Given the description of an element on the screen output the (x, y) to click on. 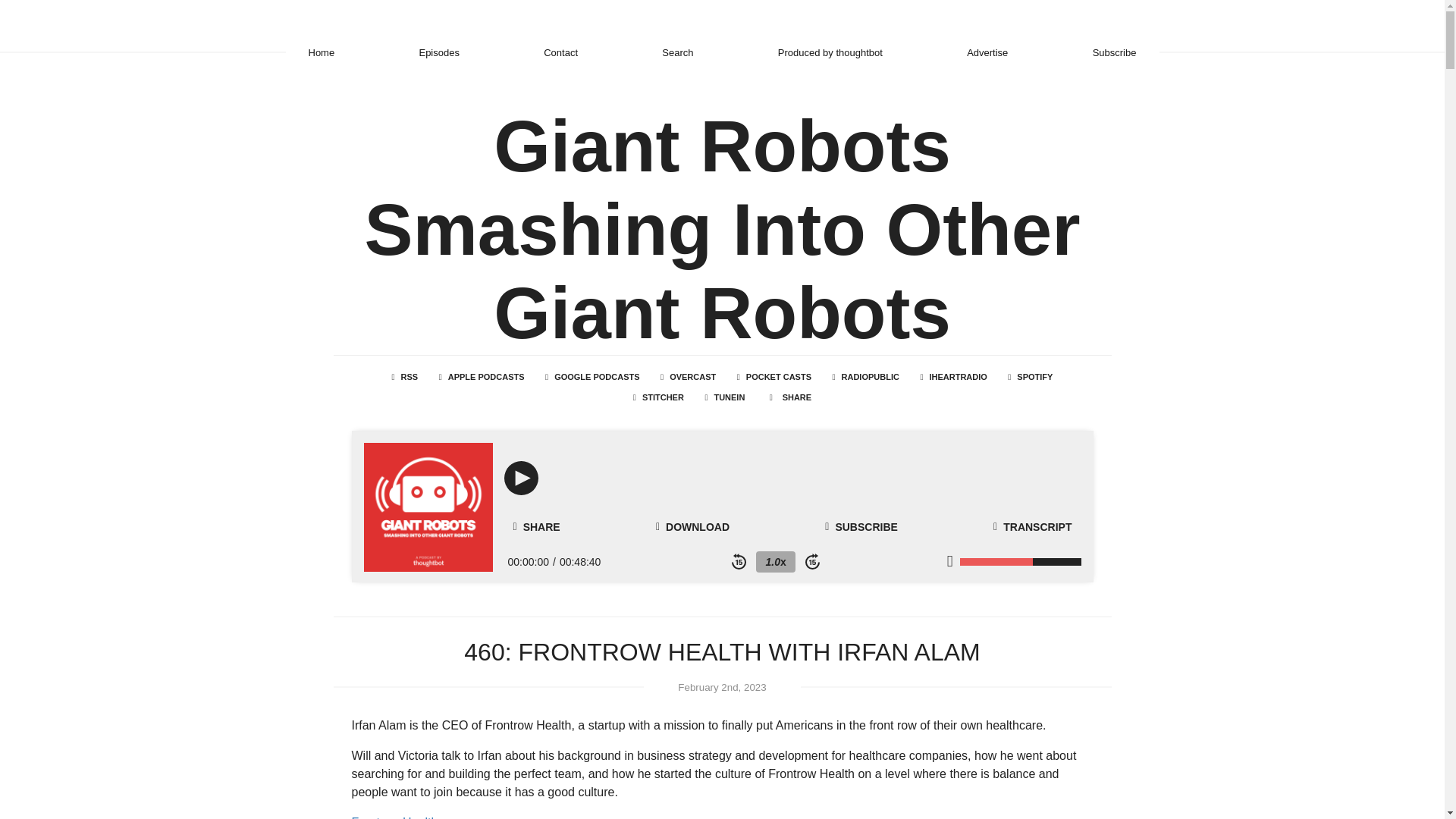
IHEARTRADIO (953, 376)
SHARE (788, 397)
TUNEIN (724, 397)
SUBSCRIBE (861, 526)
Home (320, 52)
Search (677, 52)
RADIOPUBLIC (864, 376)
GOOGLE PODCASTS (592, 376)
OVERCAST (687, 376)
Contact (560, 52)
Produced by thoughtbot (829, 52)
DOWNLOAD (692, 526)
STITCHER (658, 397)
SPOTIFY (1029, 376)
Episodes (438, 52)
